Given the description of an element on the screen output the (x, y) to click on. 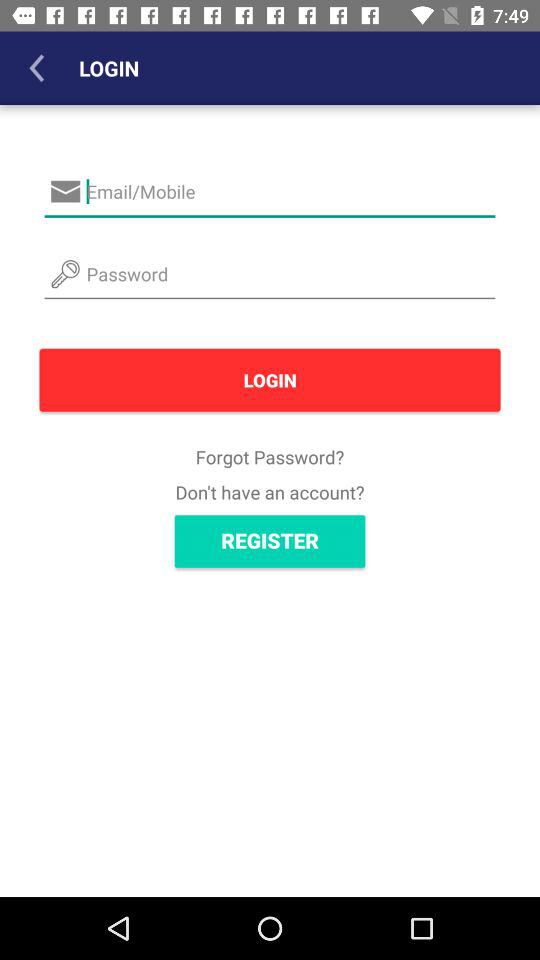
press icon below login (269, 456)
